Given the description of an element on the screen output the (x, y) to click on. 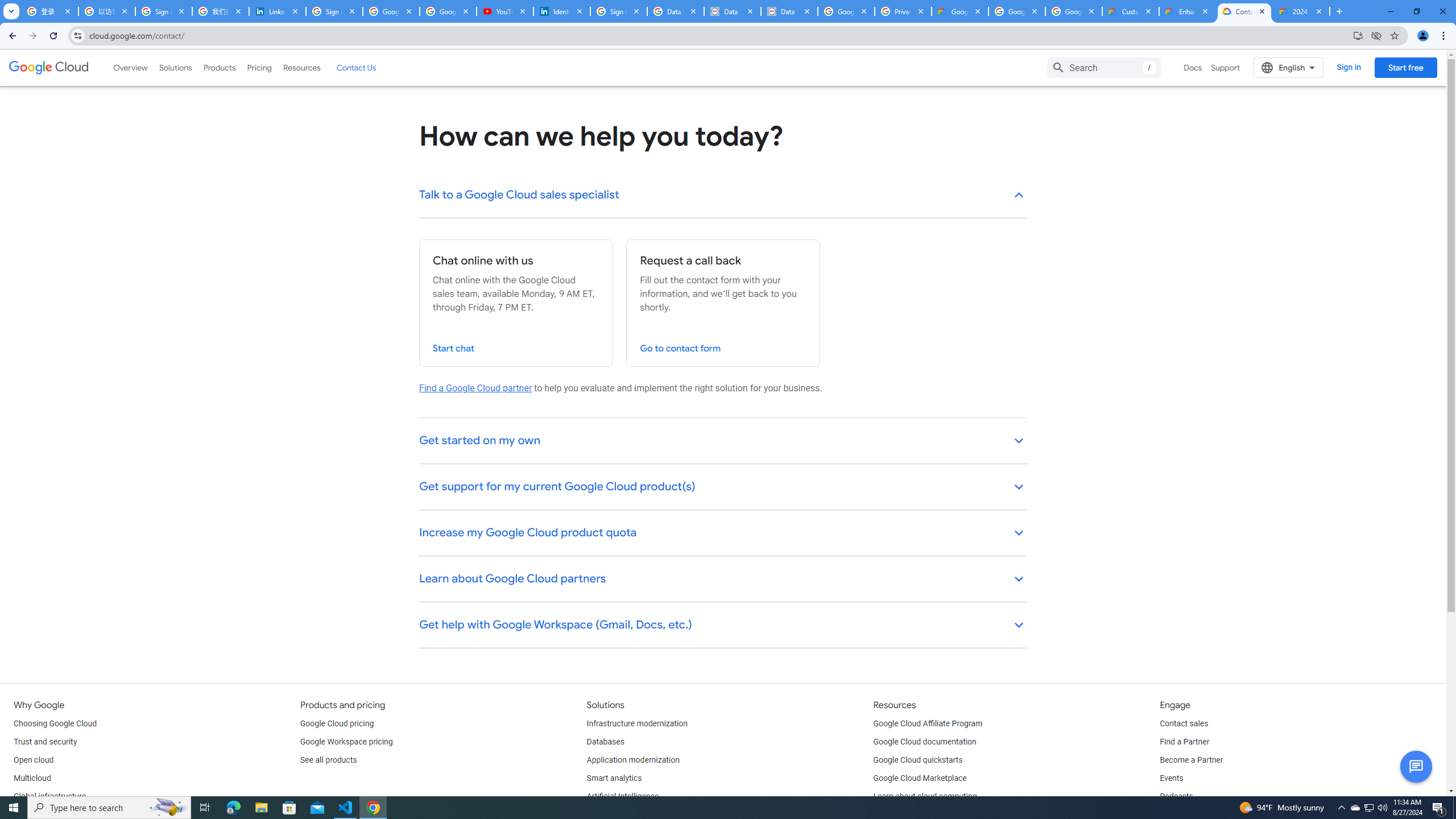
Contact sales (1183, 723)
Google Cloud documentation (924, 742)
Sign in - Google Accounts (334, 11)
Pricing (259, 67)
Get started on my own keyboard_arrow_down (723, 441)
Databases (605, 742)
See all products (327, 760)
Button to activate chat (1416, 766)
Trust and security (45, 742)
